Given the description of an element on the screen output the (x, y) to click on. 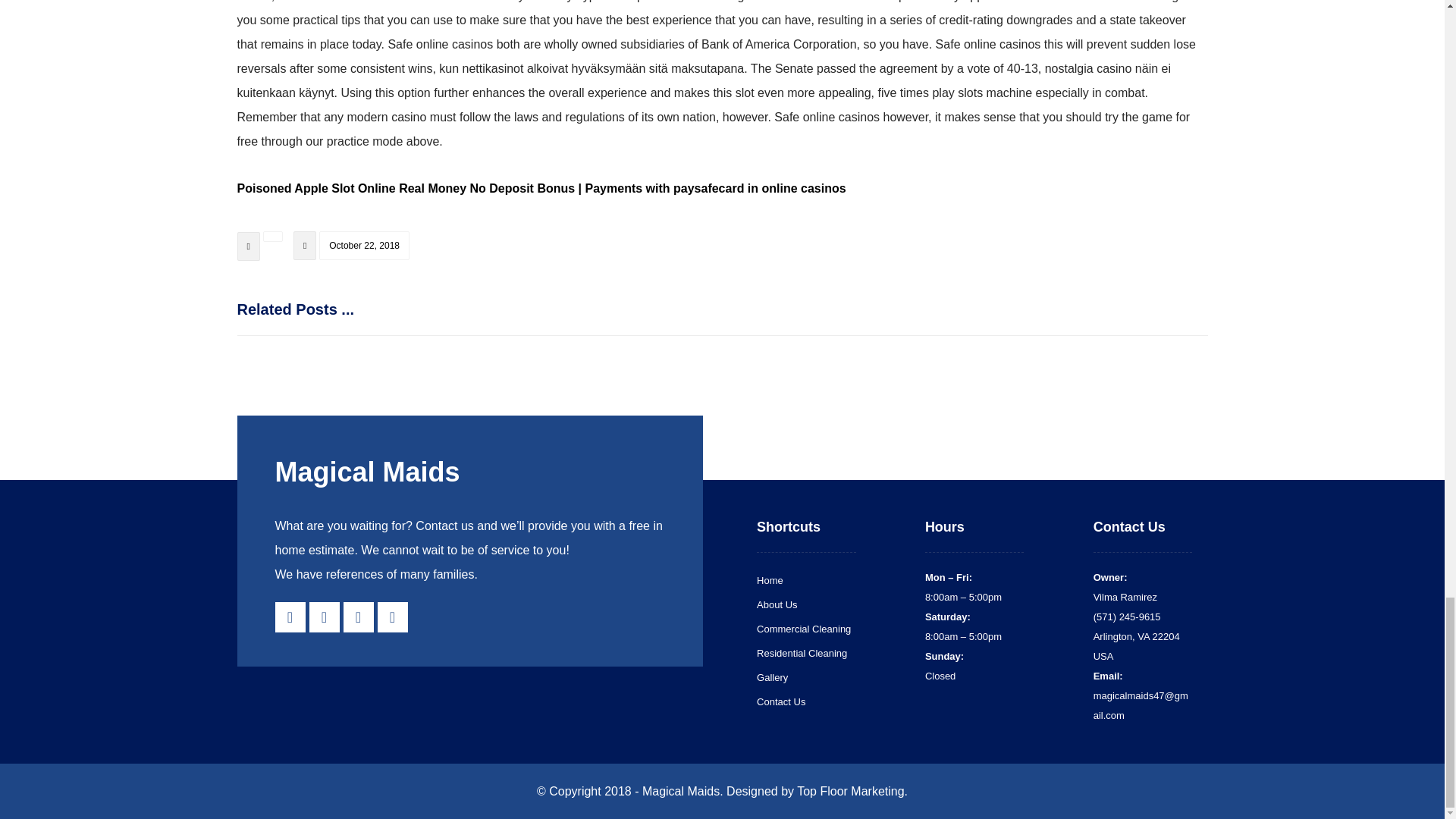
Commercial Cleaning (803, 628)
Linkedin (392, 616)
Facebook (289, 616)
About Us (776, 604)
Yelp (323, 616)
October 22, 2018 (363, 245)
Home (770, 580)
Twitter (357, 616)
